Given the description of an element on the screen output the (x, y) to click on. 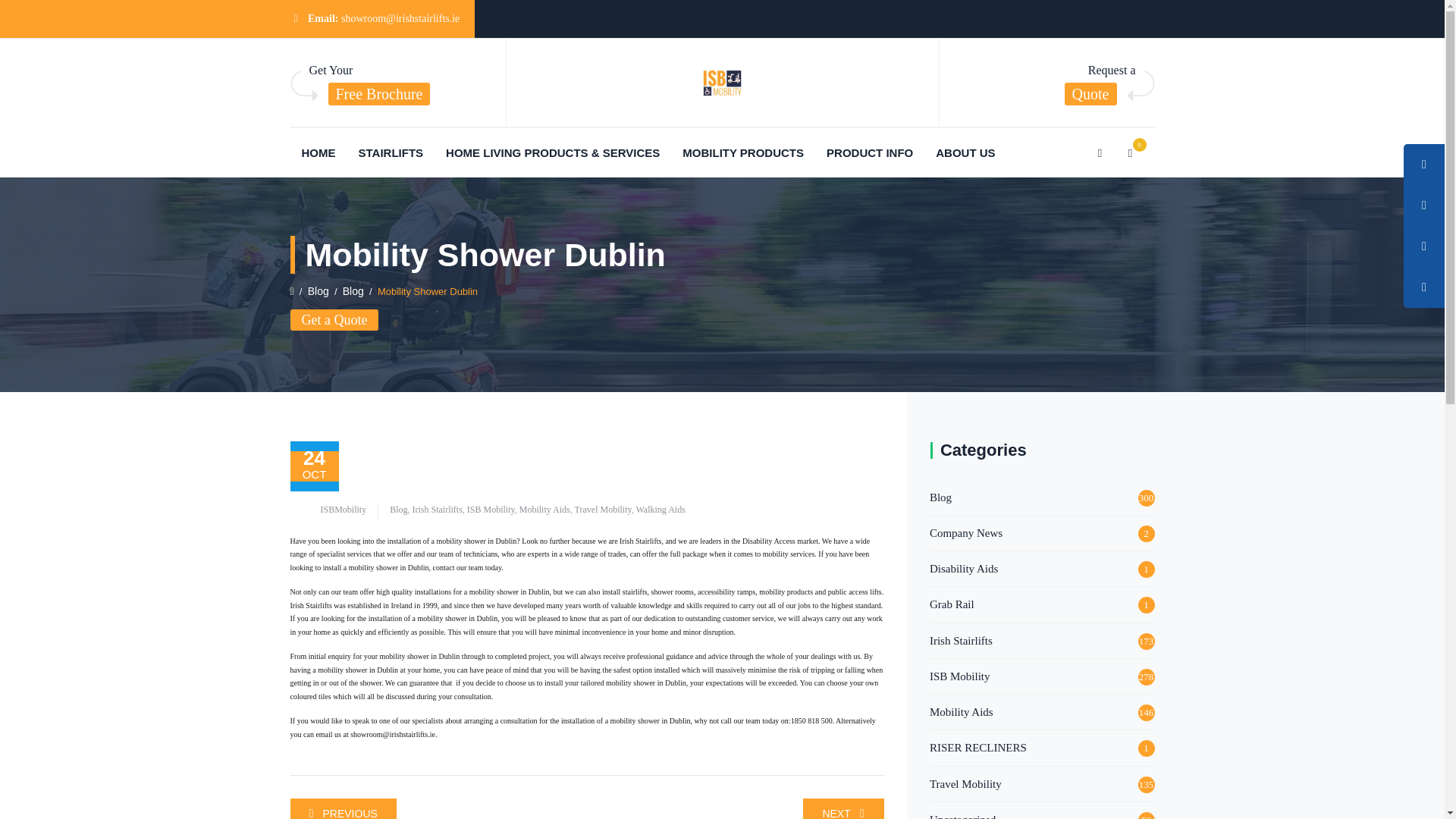
Quote (1090, 93)
MOBILITY PRODUCTS (742, 151)
Free Brochure (378, 93)
PRODUCT INFO (869, 151)
Ramps South Dublin (843, 808)
Go to Blog. (318, 291)
STAIRLIFTS (390, 151)
ABOUT US (965, 151)
Go to the Blog Category archives. (353, 291)
